Given the description of an element on the screen output the (x, y) to click on. 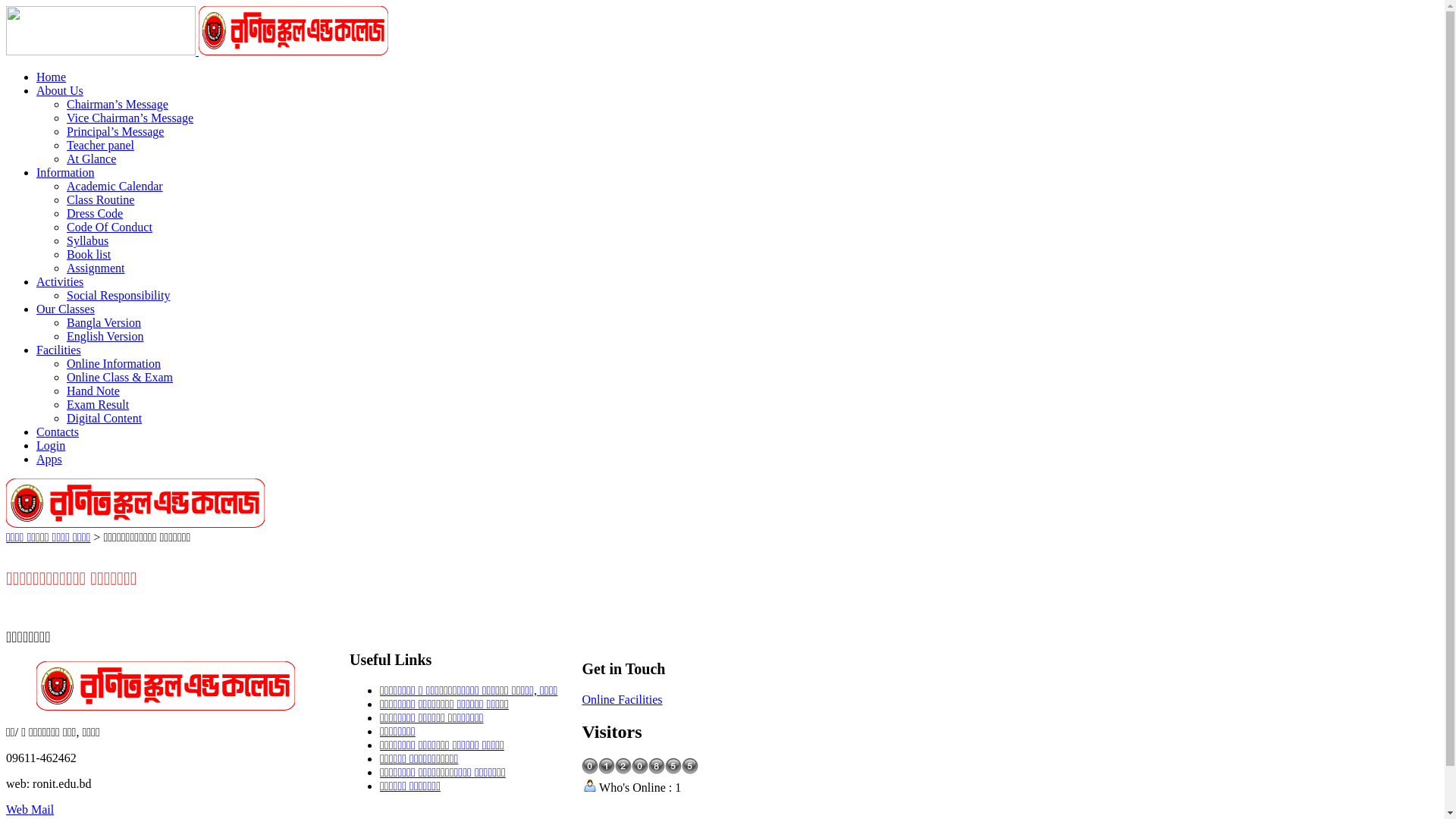
Social Responsibility Element type: text (117, 294)
Home Element type: hover (135, 523)
Dress Code Element type: text (94, 213)
Academic Calendar Element type: text (114, 185)
Facilities Element type: text (58, 349)
English Version Element type: text (104, 335)
Online Class & Exam Element type: text (119, 376)
Information Element type: text (65, 172)
Digital Content Element type: text (103, 417)
Teacher panel Element type: text (100, 144)
Book list Element type: text (88, 253)
Apps Element type: text (49, 458)
At Glance Element type: text (91, 158)
Web Mail Element type: text (29, 809)
Contacts Element type: text (57, 431)
About Us Element type: text (59, 90)
Bangla Version Element type: text (103, 322)
Exam Result Element type: text (97, 404)
Our Classes Element type: text (65, 308)
Home Element type: text (50, 76)
Activities Element type: text (59, 281)
Class Routine Element type: text (100, 199)
Online Facilities Element type: text (621, 699)
Code Of Conduct Element type: text (109, 226)
Hand Note Element type: text (92, 390)
Assignment Element type: text (95, 267)
Login Element type: text (50, 445)
Online Information Element type: text (113, 363)
Syllabus Element type: text (87, 240)
